Given the description of an element on the screen output the (x, y) to click on. 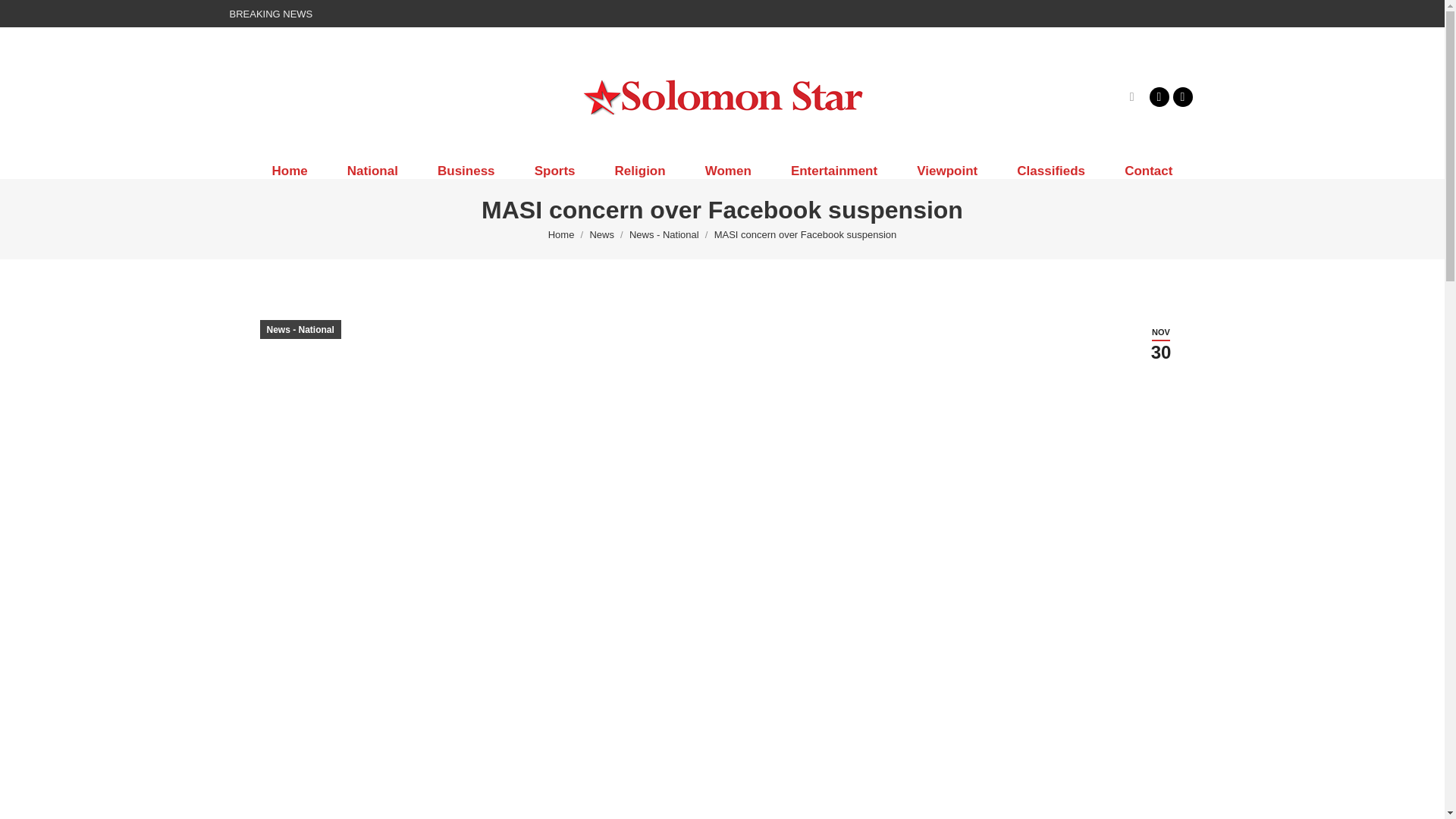
Facebook page opens in new window (1159, 96)
X page opens in new window (1182, 96)
Home (288, 170)
News (601, 234)
Facebook page opens in new window (1159, 96)
Contact (1148, 170)
National (372, 170)
News - National (663, 234)
Classifieds (1051, 170)
Entertainment (833, 170)
